Given the description of an element on the screen output the (x, y) to click on. 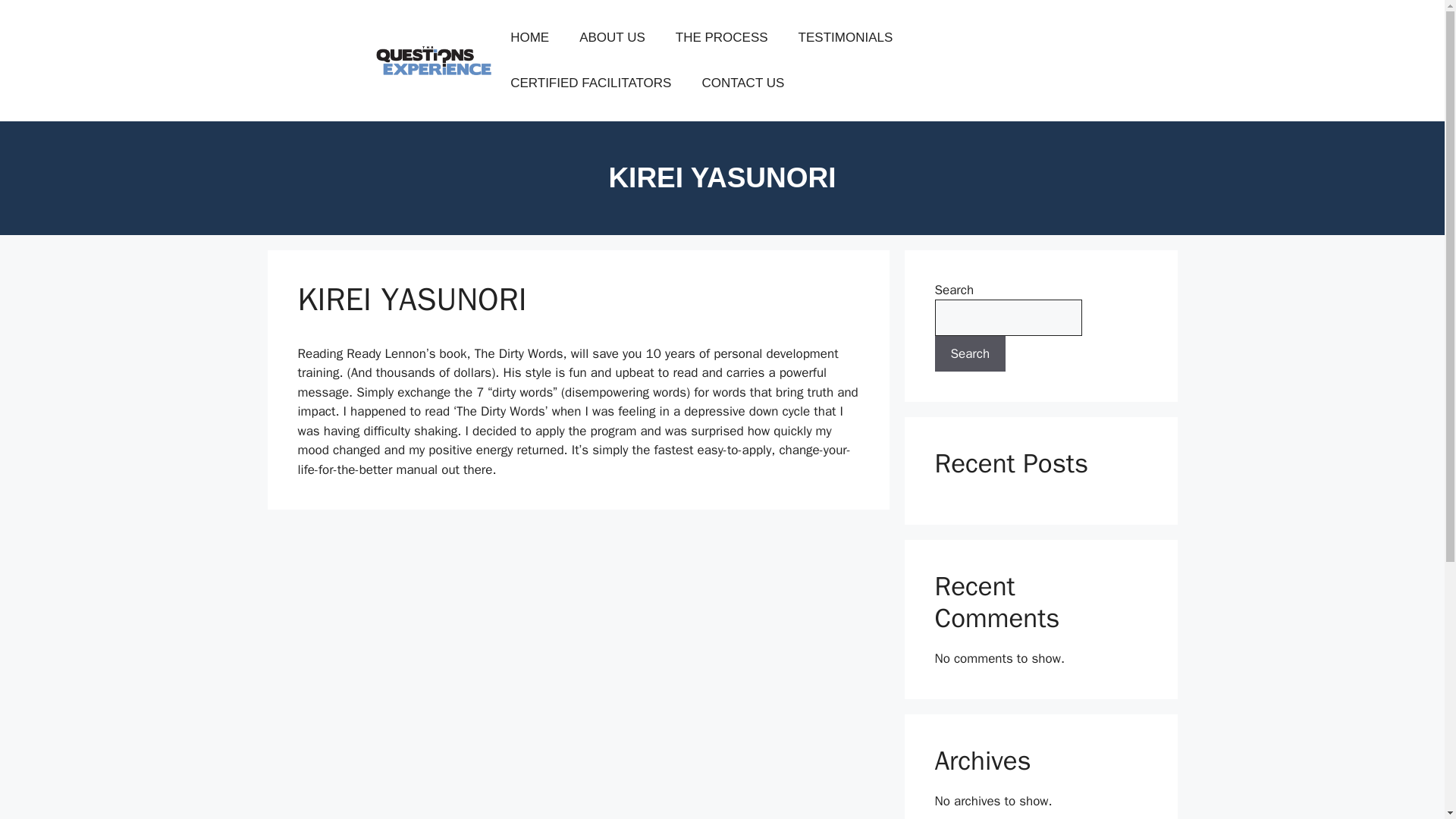
HOME (529, 37)
Search (970, 352)
THE PROCESS (722, 37)
ABOUT US (612, 37)
CONTACT US (742, 83)
CERTIFIED FACILITATORS (590, 83)
TESTIMONIALS (845, 37)
